Given the description of an element on the screen output the (x, y) to click on. 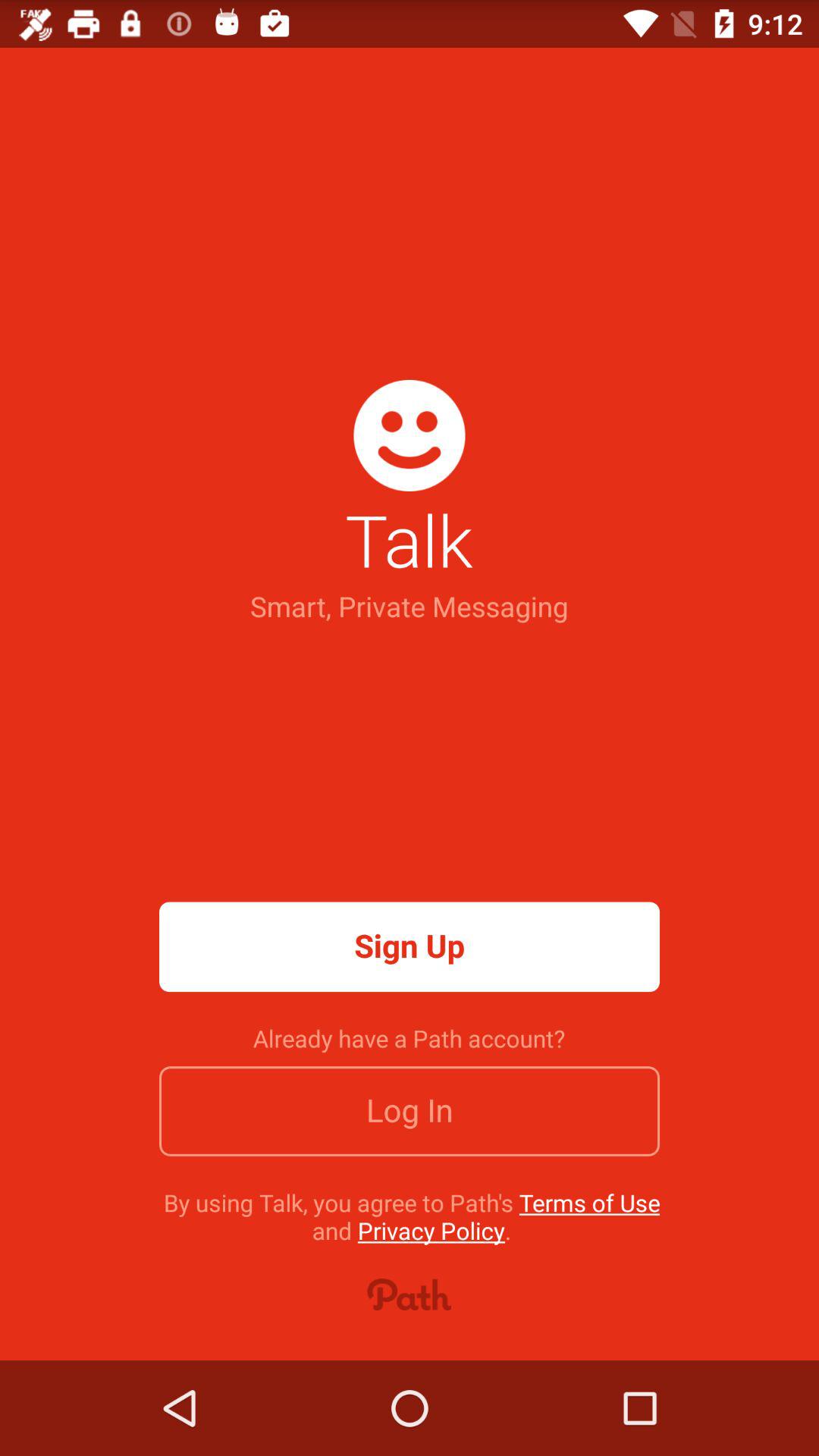
press the log in item (409, 1111)
